Given the description of an element on the screen output the (x, y) to click on. 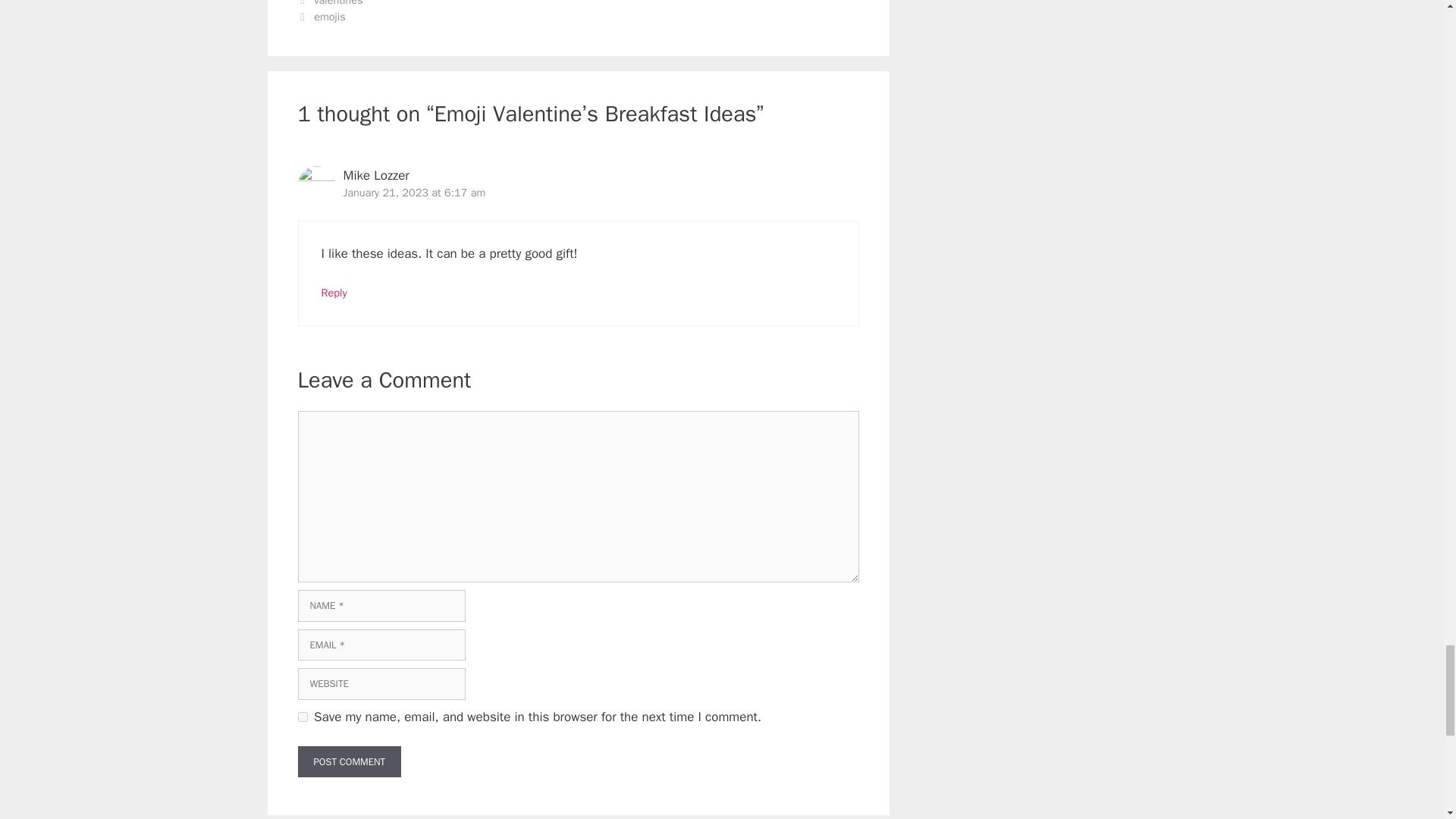
Post Comment (349, 762)
yes (302, 716)
